Given the description of an element on the screen output the (x, y) to click on. 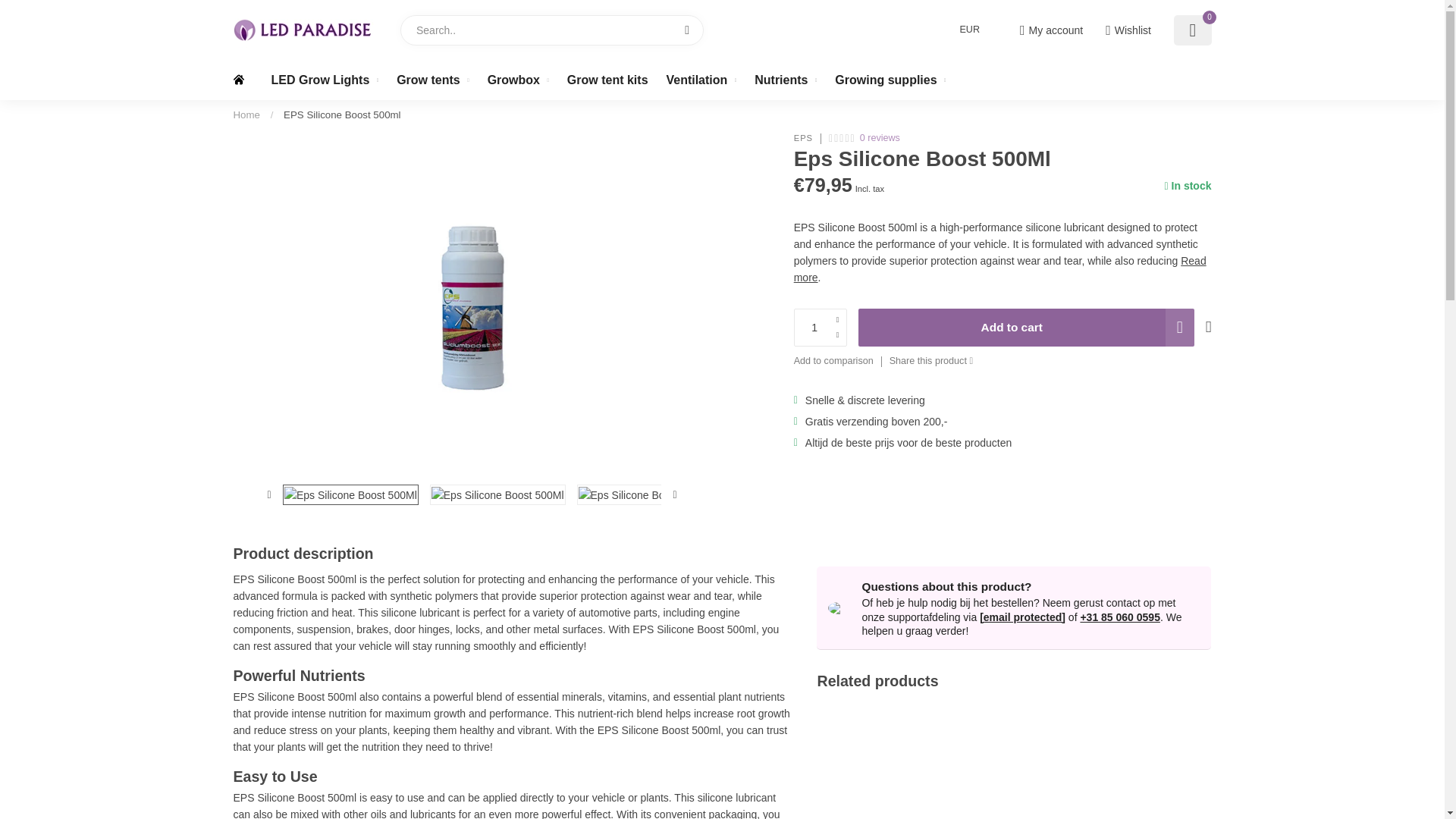
Home (246, 114)
Wishlist (1128, 30)
LED Grow Lights (324, 79)
0 (1192, 30)
My account (1051, 30)
Growbox (517, 79)
Ventilation (700, 79)
Grow tent kits (607, 79)
Grow tents (432, 79)
1 (820, 327)
